Given the description of an element on the screen output the (x, y) to click on. 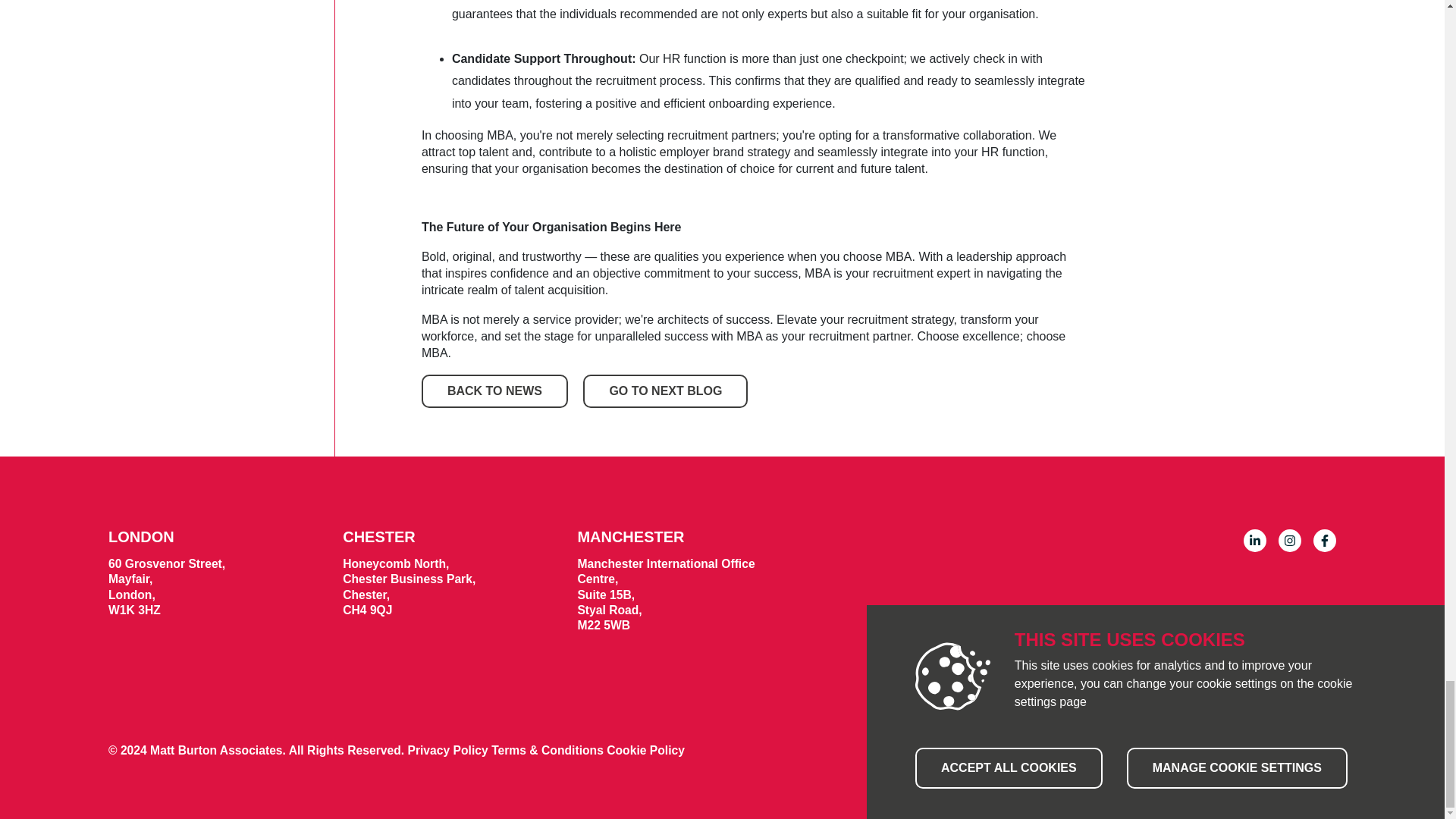
Cookie Policy (645, 749)
Cookie Policy (645, 749)
Privacy Policy (449, 749)
GO TO NEXT BLOG (665, 390)
Privacy Policy (449, 749)
Biff Bang Pow (1298, 751)
BACK TO NEWS (494, 390)
